Given the description of an element on the screen output the (x, y) to click on. 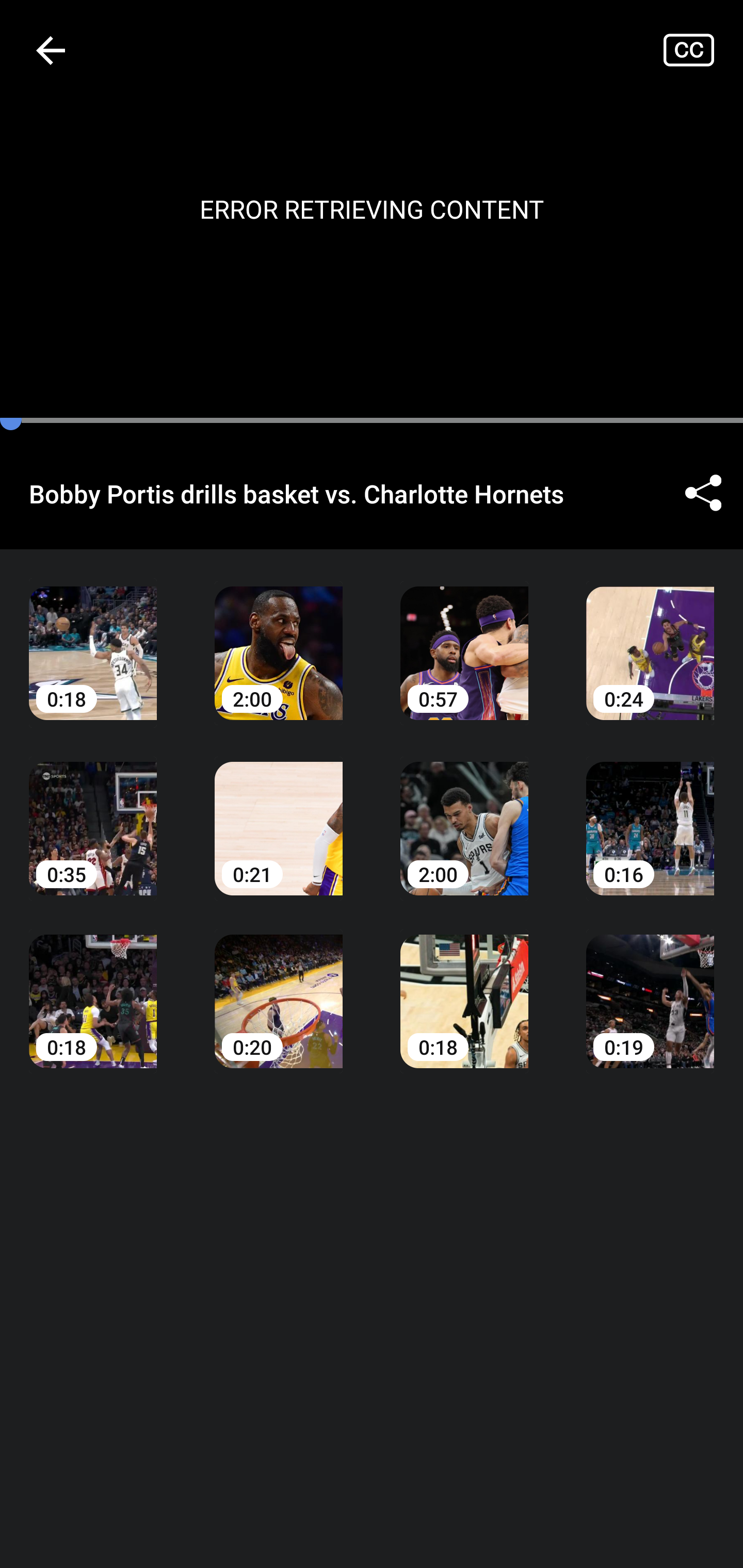
Navigate up (50, 50)
Closed captions  (703, 49)
Share © (703, 493)
0:18 (92, 637)
2:00 (278, 637)
0:57 (464, 637)
0:24 (650, 637)
0:35 (92, 813)
0:21 (278, 813)
2:00 (464, 813)
0:16 (650, 813)
0:18 (92, 987)
0:20 (278, 987)
0:18 (464, 987)
0:19 (650, 987)
